Given the description of an element on the screen output the (x, y) to click on. 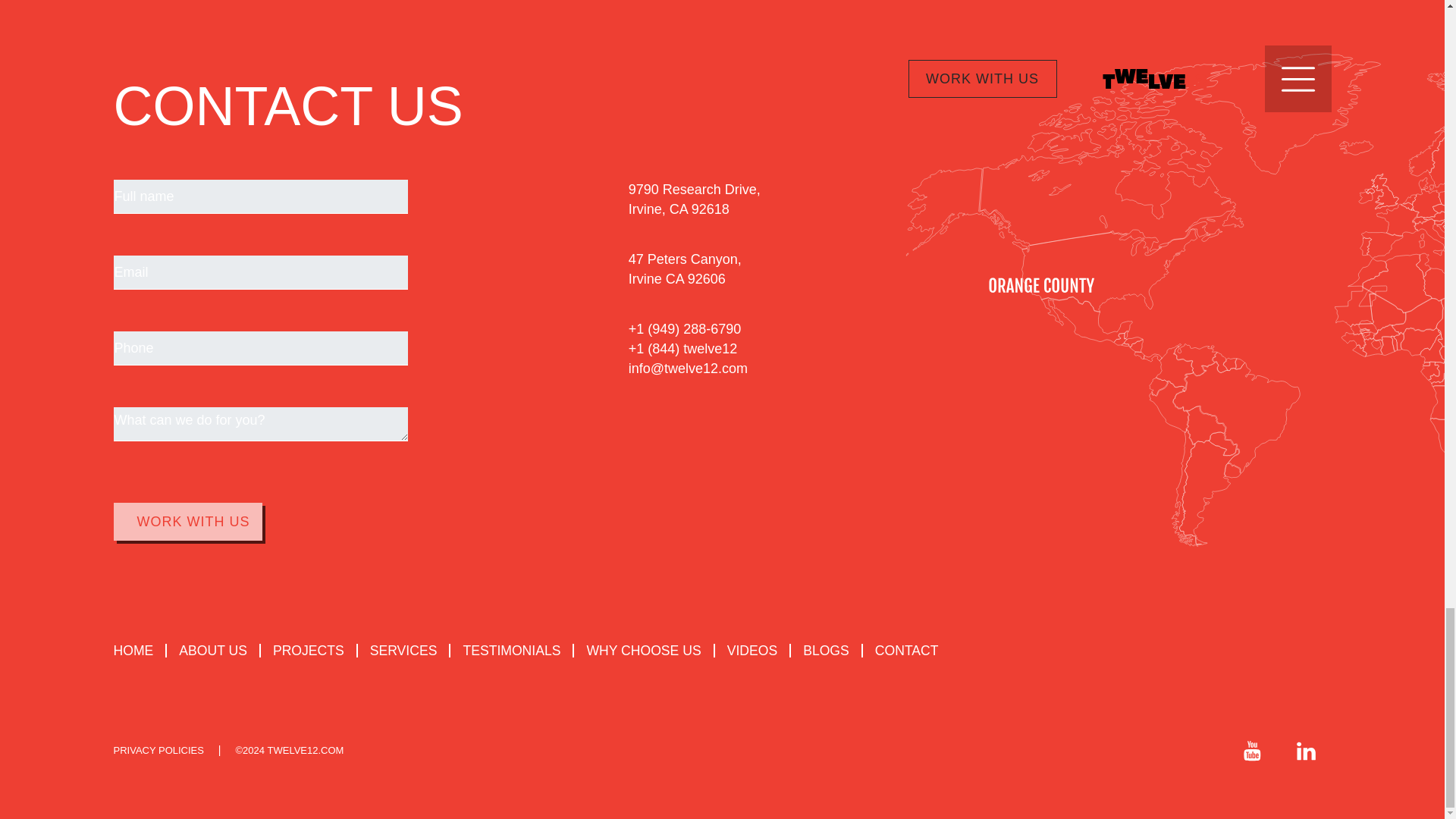
work with us (187, 521)
